Given the description of an element on the screen output the (x, y) to click on. 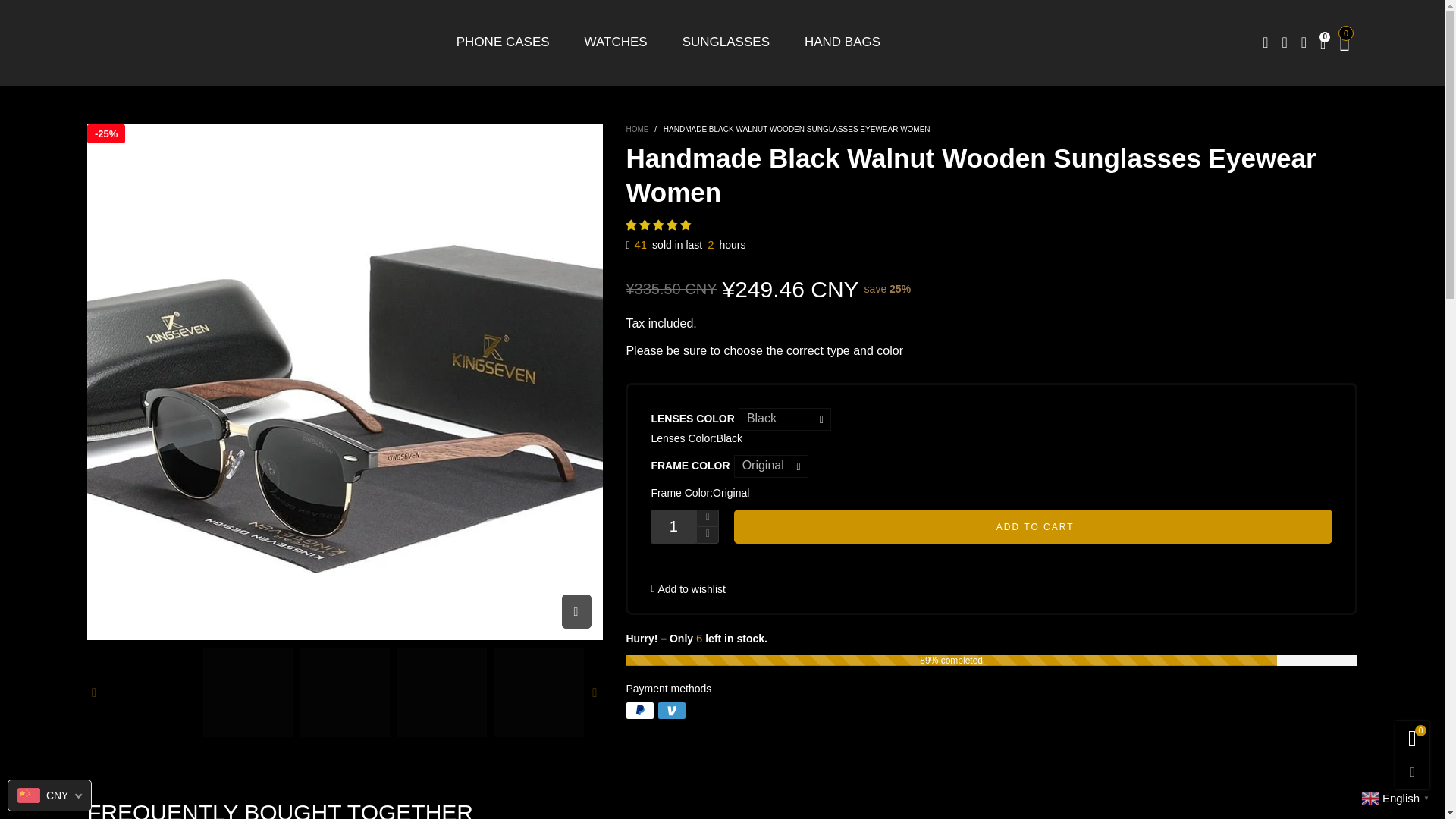
PHONE CASES (503, 42)
HAND BAGS (842, 42)
Wishlist (1322, 43)
WATCHES (616, 42)
WATCHES (616, 42)
Compare (1303, 43)
SUNGLASSES (726, 42)
HAND BAGS (842, 42)
1 (672, 526)
SUNGLASSES (726, 42)
